Given the description of an element on the screen output the (x, y) to click on. 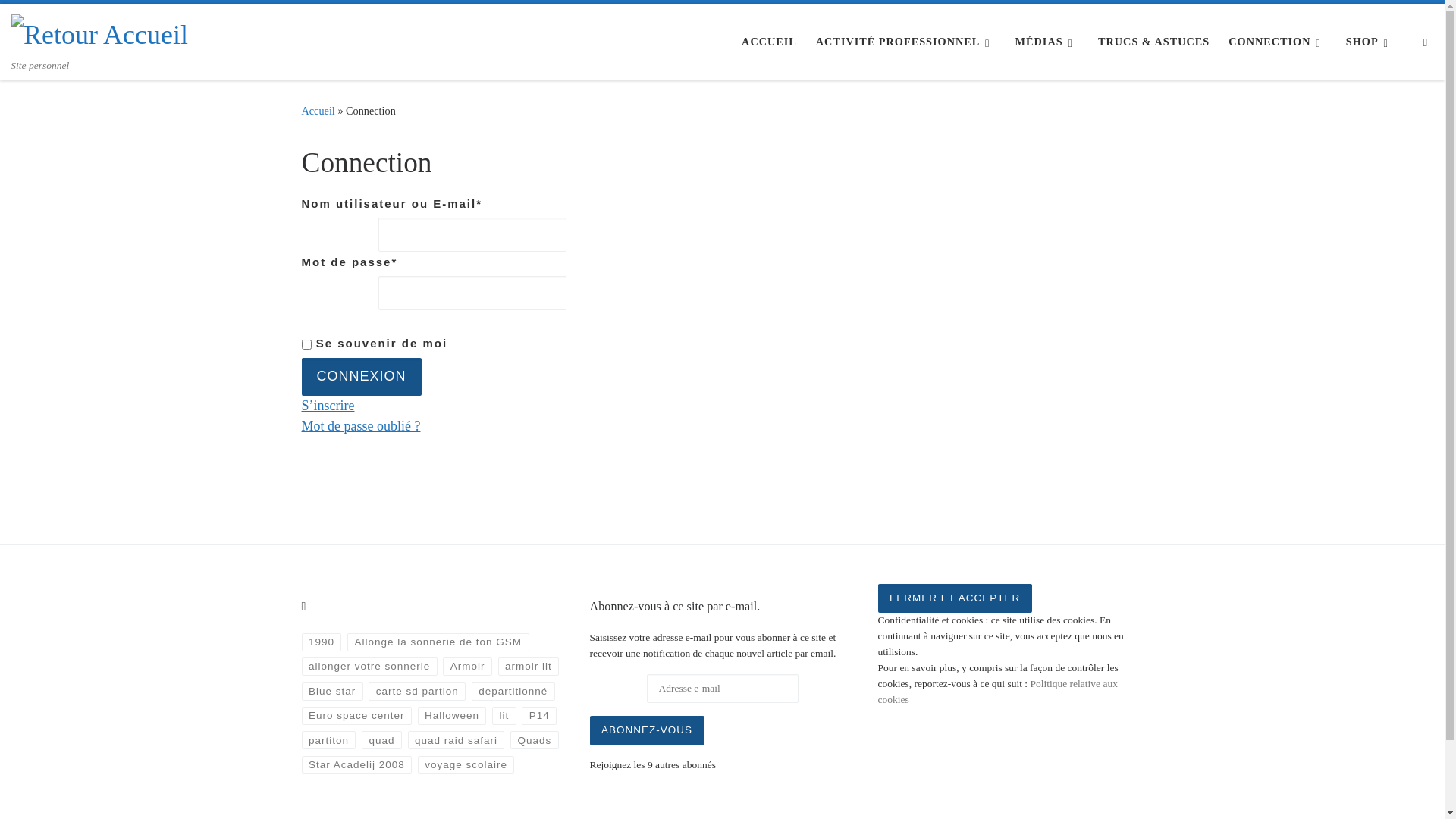
Allonge la sonnerie de ton GSM Element type: text (438, 642)
CONNECTION Element type: text (1277, 41)
Politique relative aux cookies Element type: text (997, 691)
Search Element type: text (1424, 41)
1990 Element type: text (321, 642)
ACCUEIL Element type: text (769, 41)
TRUCS & ASTUCES Element type: text (1153, 41)
Connexion Element type: text (361, 376)
quad raid safari Element type: text (456, 740)
Quads Element type: text (534, 740)
armoir lit Element type: text (528, 666)
Blue star Element type: text (332, 691)
Fermer et accepter Element type: text (955, 597)
quad Element type: text (381, 740)
P14 Element type: text (538, 715)
lit Element type: text (504, 715)
voyage scolaire Element type: text (465, 765)
Passer au contenu Element type: text (64, 20)
carte sd partion Element type: text (416, 691)
ABONNEZ-VOUS Element type: text (646, 729)
Euro space center Element type: text (356, 715)
Star Acadelij 2008 Element type: text (356, 765)
Halloween Element type: text (451, 715)
SHOP Element type: text (1370, 41)
partiton Element type: text (328, 740)
allonger votre sonnerie Element type: text (369, 666)
Armoir Element type: text (467, 666)
Accueil Element type: text (318, 110)
